Given the description of an element on the screen output the (x, y) to click on. 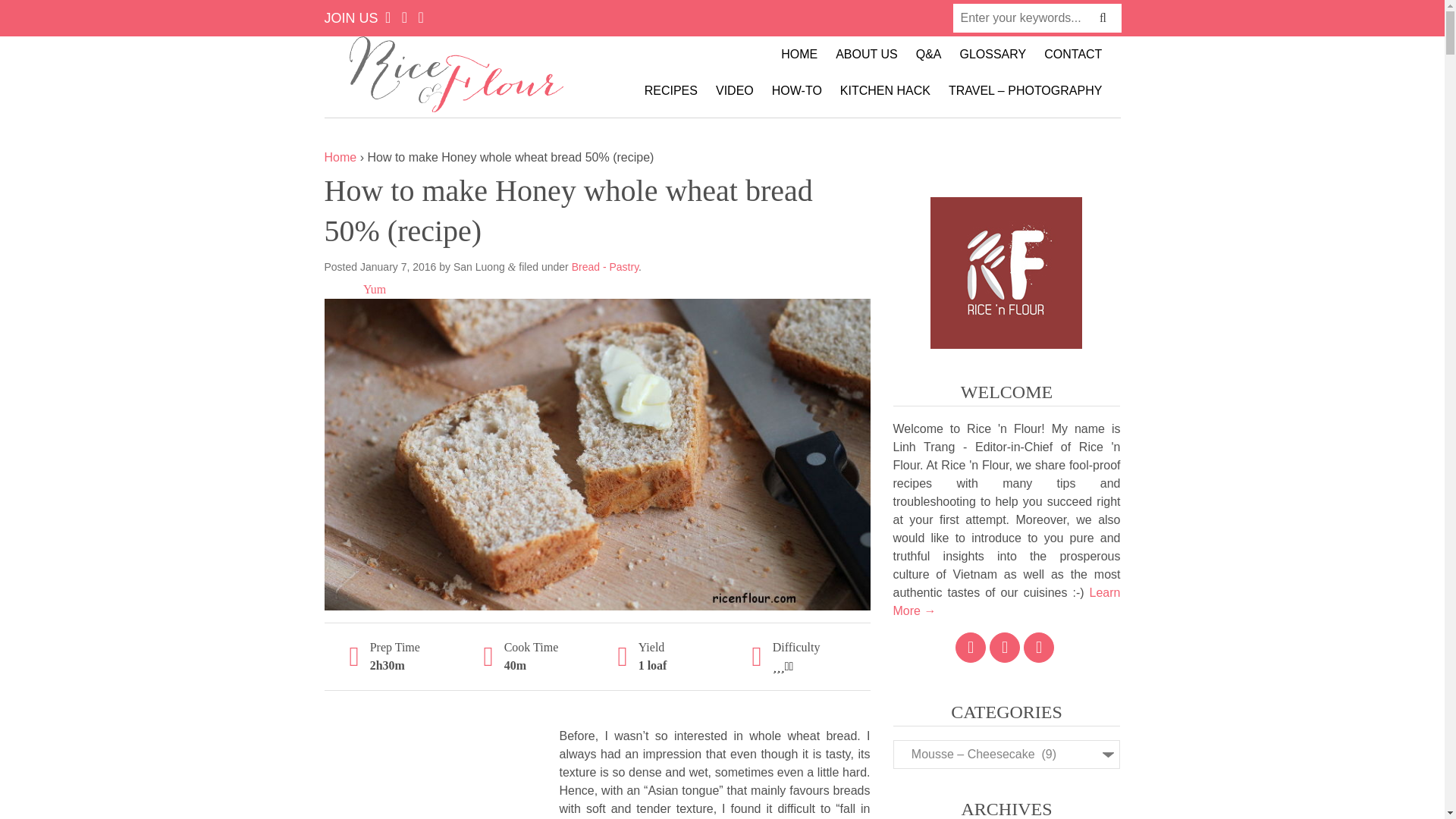
ABOUT US (867, 54)
HOW-TO (796, 90)
Home (340, 156)
Bread - Pastry (605, 266)
KITCHEN HACK (885, 90)
Yum (373, 288)
HOME (799, 54)
VIDEO (734, 90)
CONTACT (1072, 54)
RECIPES (670, 90)
GLOSSARY (992, 54)
